Given the description of an element on the screen output the (x, y) to click on. 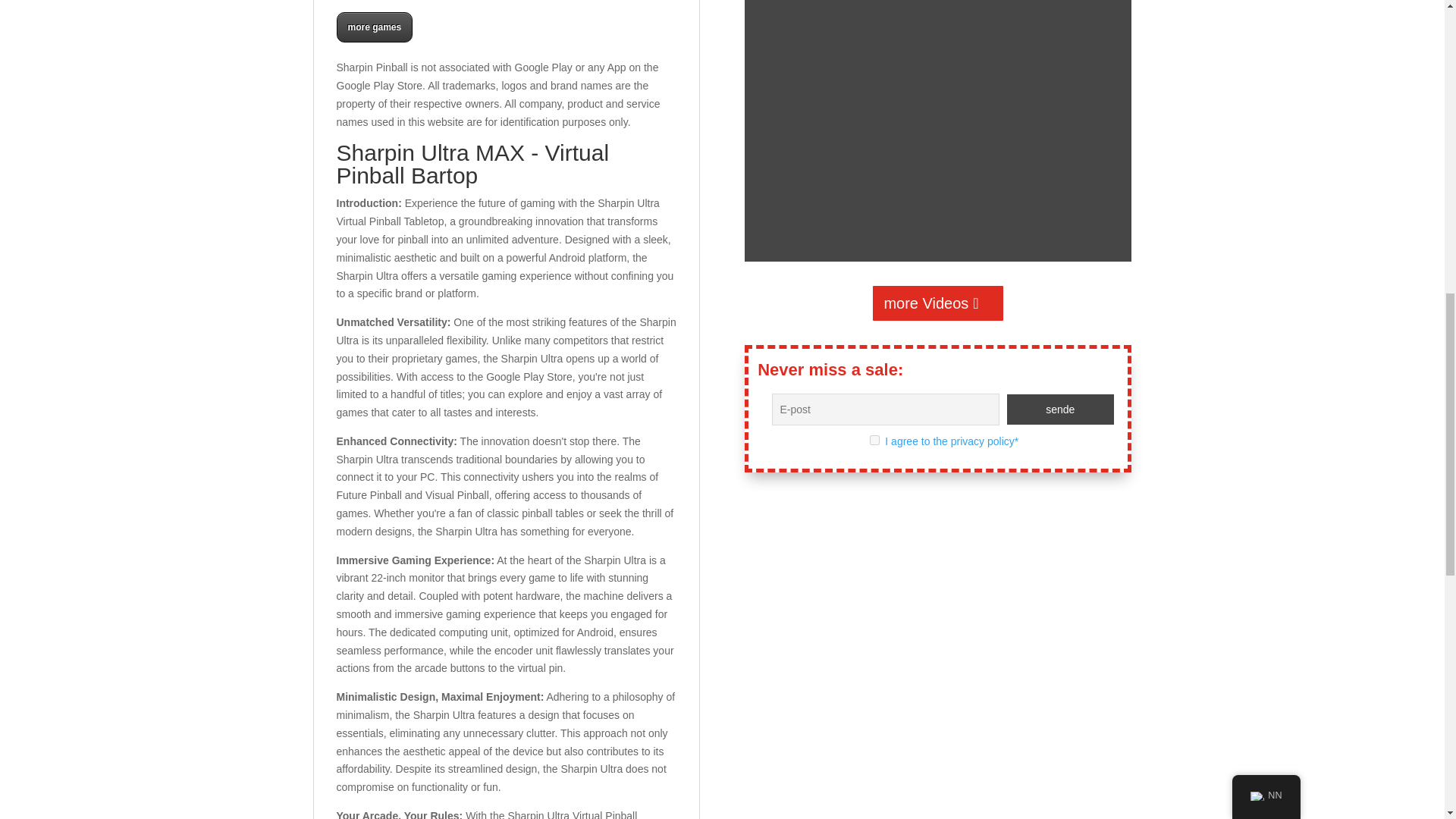
on (874, 439)
more games (374, 27)
sende (1061, 409)
sende (1061, 409)
more Videos (937, 303)
